Given the description of an element on the screen output the (x, y) to click on. 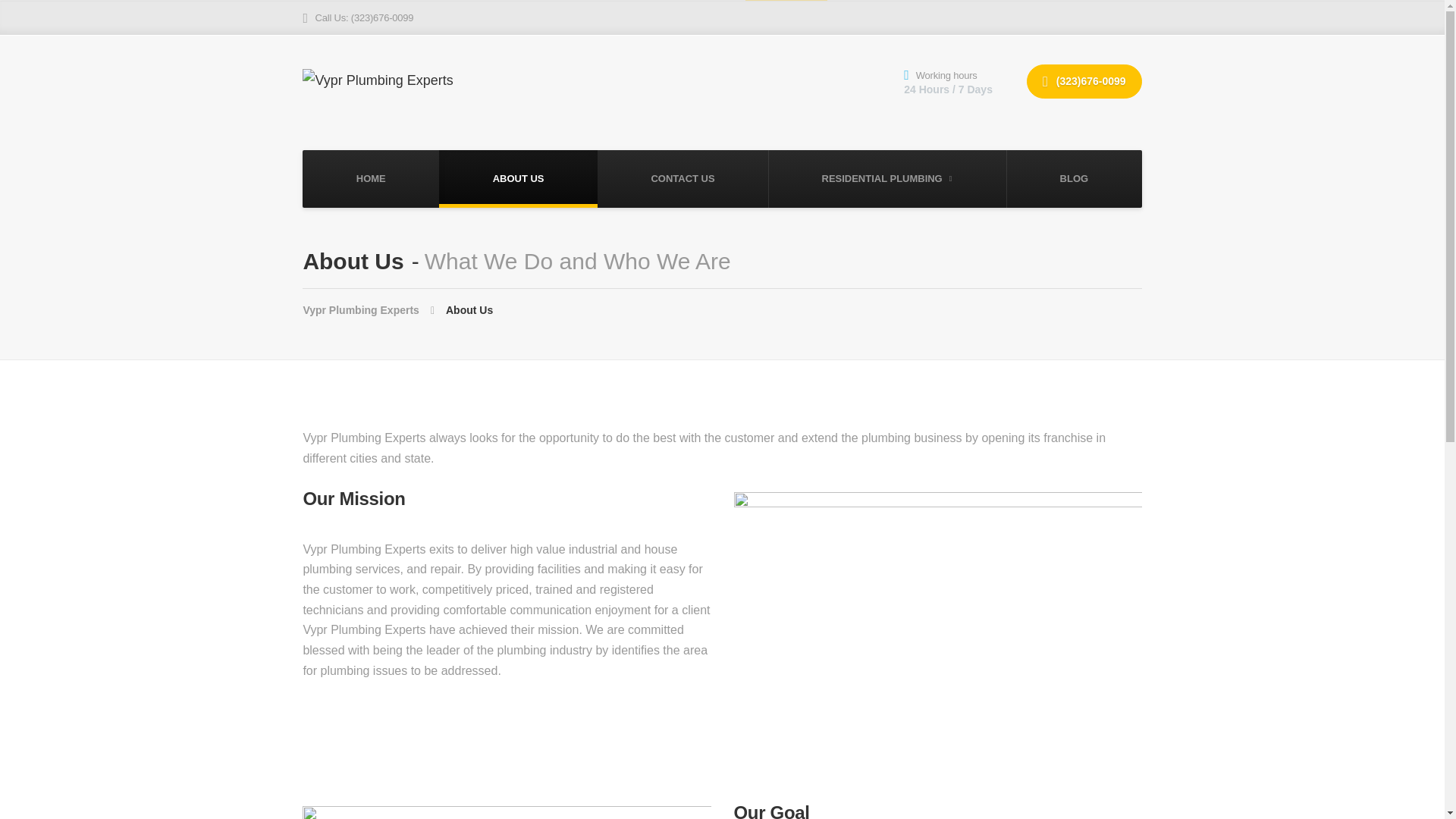
BLOG (1073, 178)
Vypr Plumbing Experts (373, 309)
RESIDENTIAL PLUMBING (887, 178)
ABOUT US (517, 178)
CONTACT US (682, 178)
Go to Vypr Plumbing Experts. (373, 309)
HOME (370, 178)
